Given the description of an element on the screen output the (x, y) to click on. 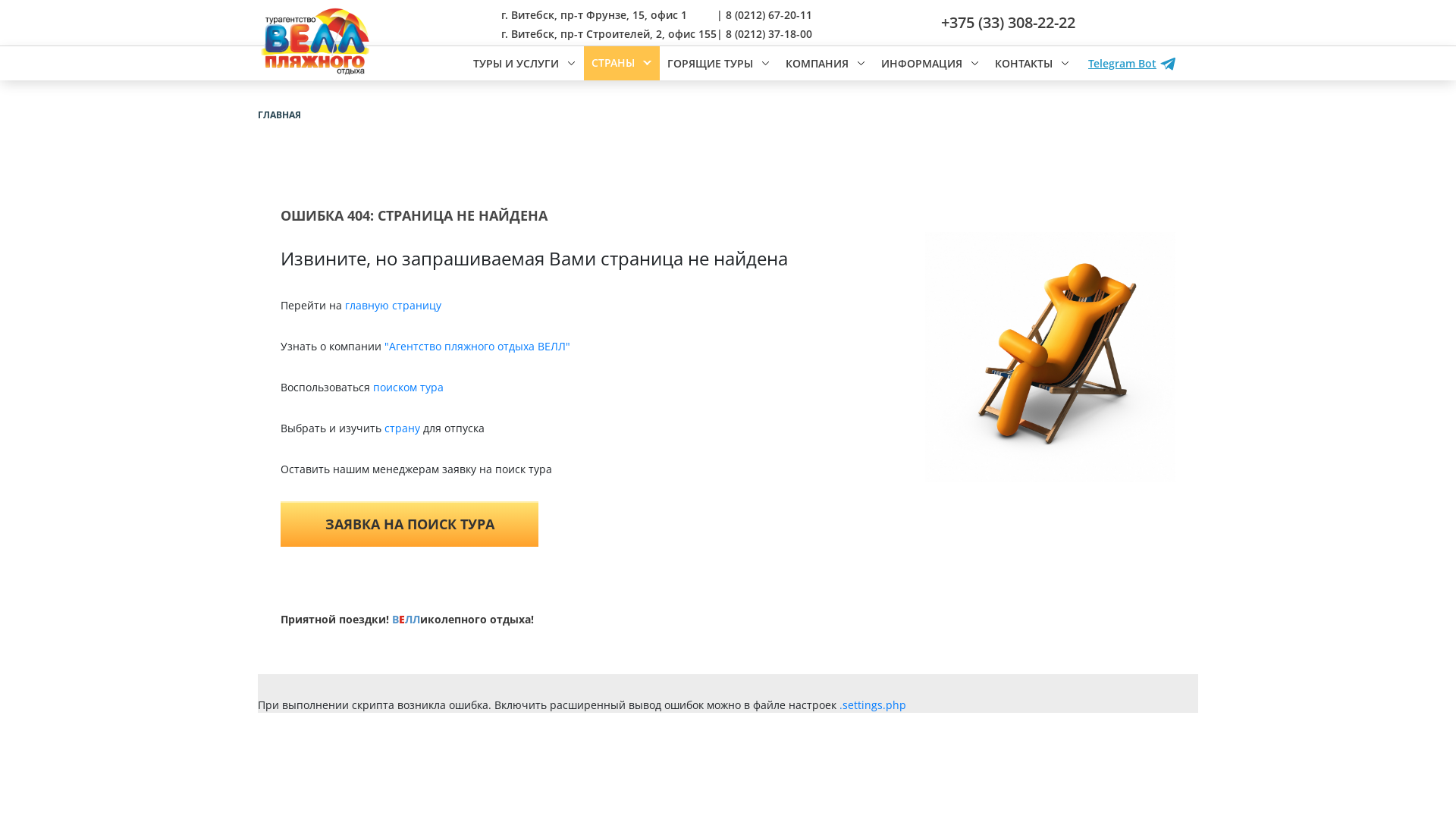
.settings.php Element type: text (872, 704)
8 (0212) 37-18-00 Element type: text (768, 32)
Telegram Bot Element type: text (1131, 63)
+375 (33) 308-22-22 Element type: text (1008, 22)
8 (0212) 67-20-11 Element type: text (768, 14)
Relax.jpg Element type: hover (1050, 357)
